Given the description of an element on the screen output the (x, y) to click on. 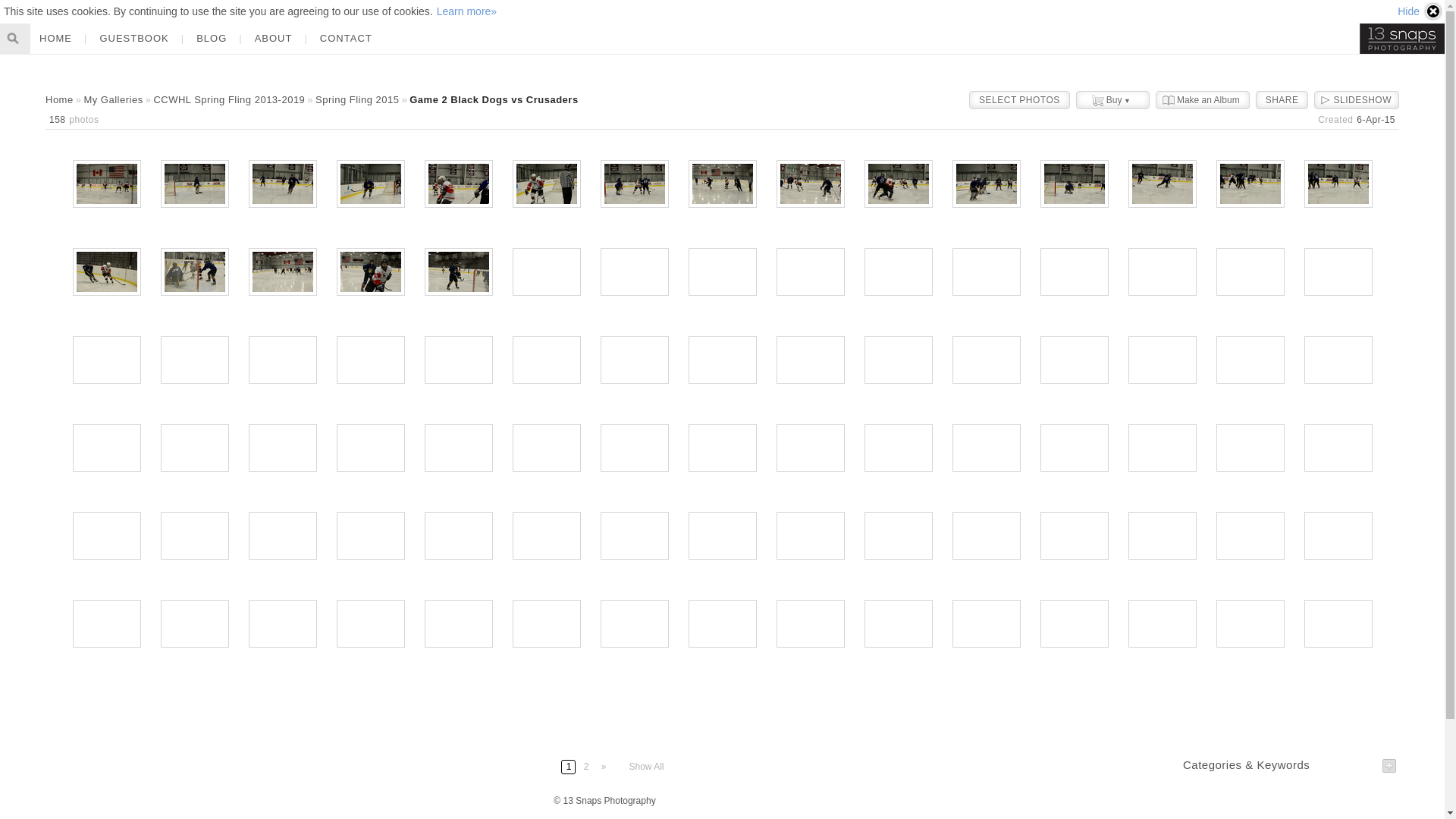
My Galleries Element type: text (112, 99)
CCWHL Spring Fling 2013-2019 Element type: text (228, 99)
13 Snaps Photography Element type: hover (1401, 38)
BLOG Element type: text (211, 38)
Show All Element type: text (646, 766)
1 Element type: text (568, 766)
Home Element type: text (59, 99)
2 Element type: text (585, 766)
Hide Element type: text (1419, 11)
Spring Fling 2015 Element type: text (356, 99)
CONTACT Element type: text (345, 38)
HOME Element type: text (55, 38)
GUESTBOOK Element type: text (133, 38)
Categories & Keywords Element type: text (1246, 764)
ABOUT Element type: text (273, 38)
